Given the description of an element on the screen output the (x, y) to click on. 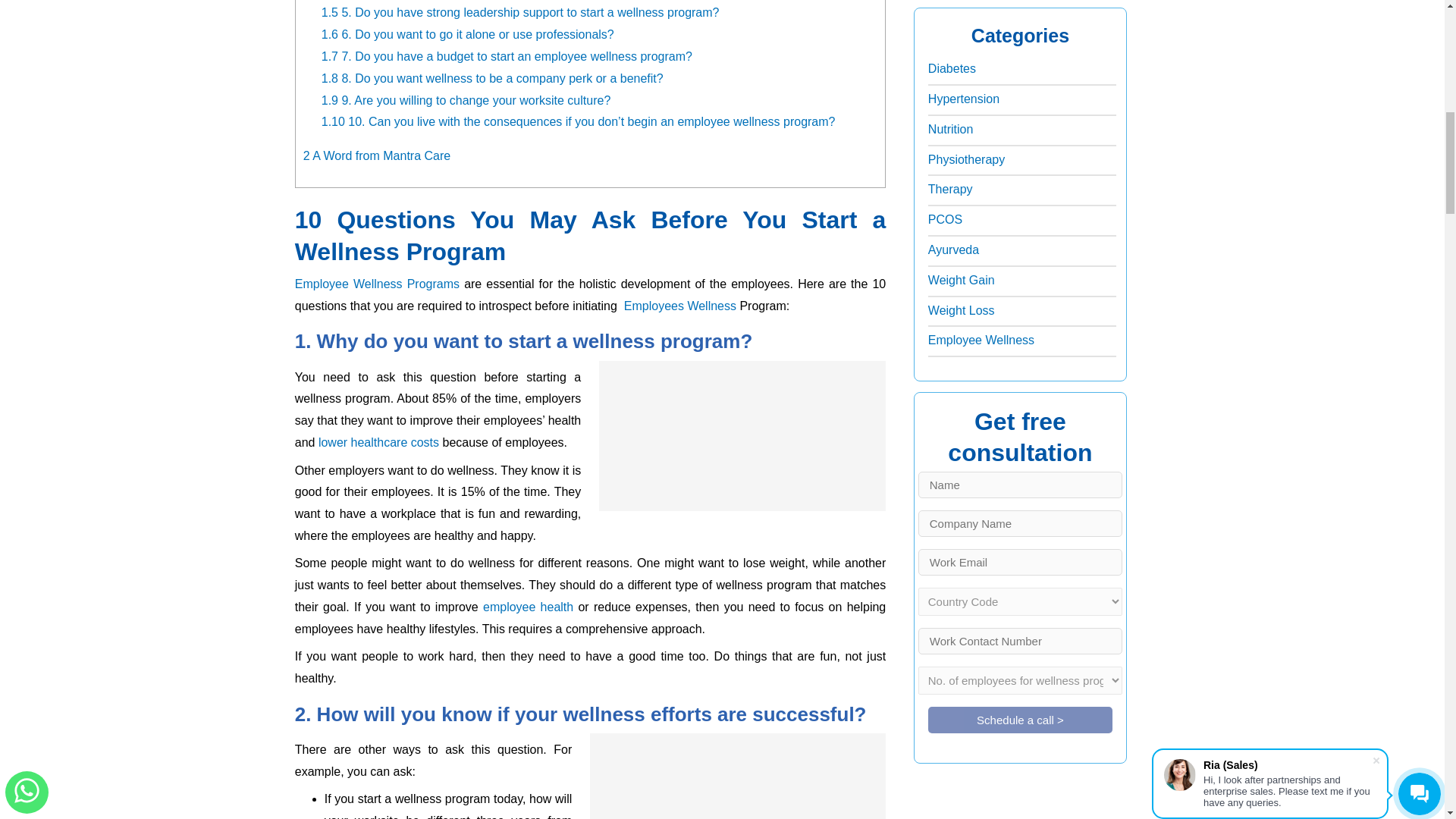
employees wellness (680, 305)
employee health (528, 606)
employee wellness programs (377, 283)
